Given the description of an element on the screen output the (x, y) to click on. 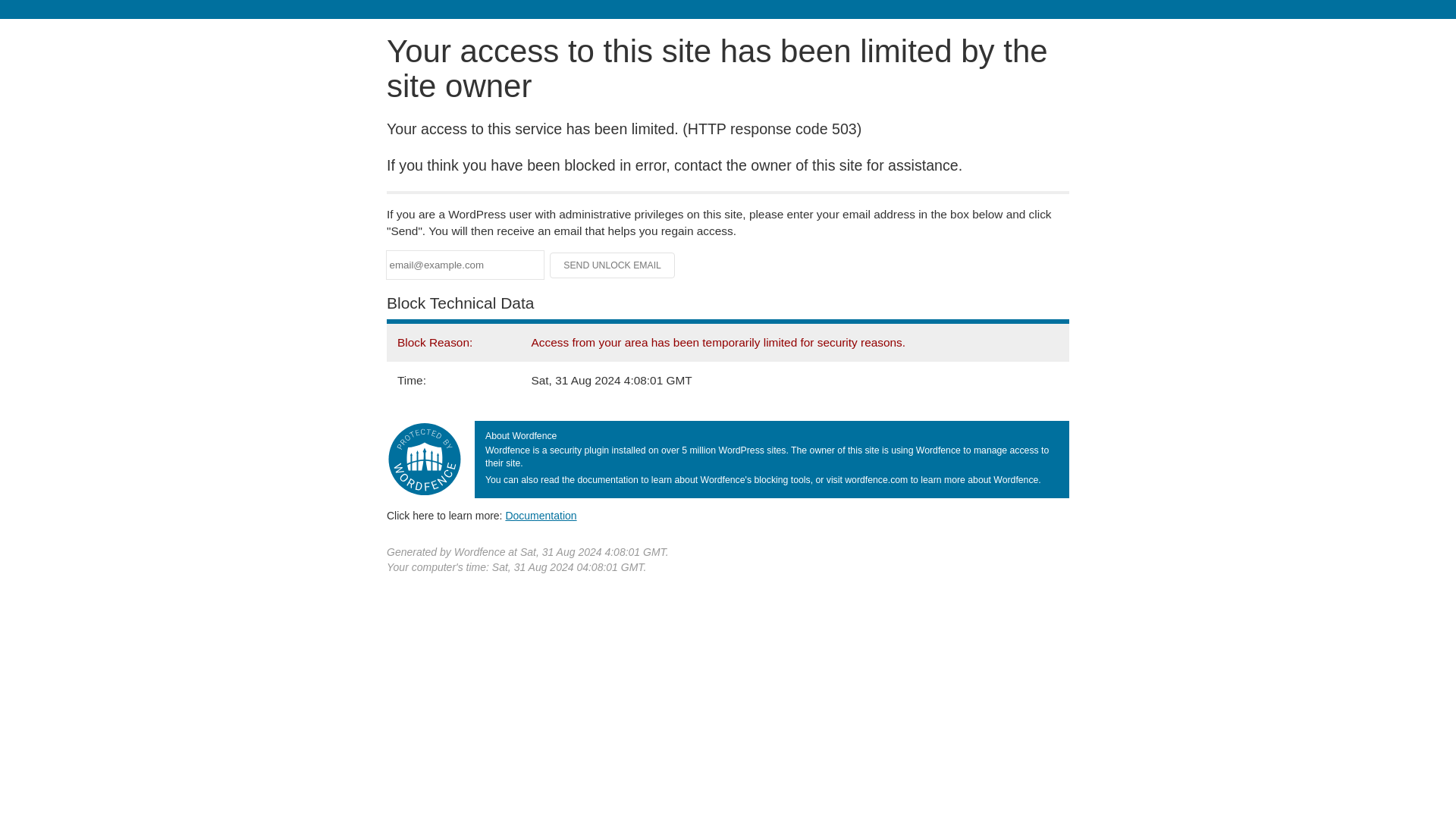
Documentation (540, 515)
Send Unlock Email (612, 265)
Send Unlock Email (612, 265)
